Given the description of an element on the screen output the (x, y) to click on. 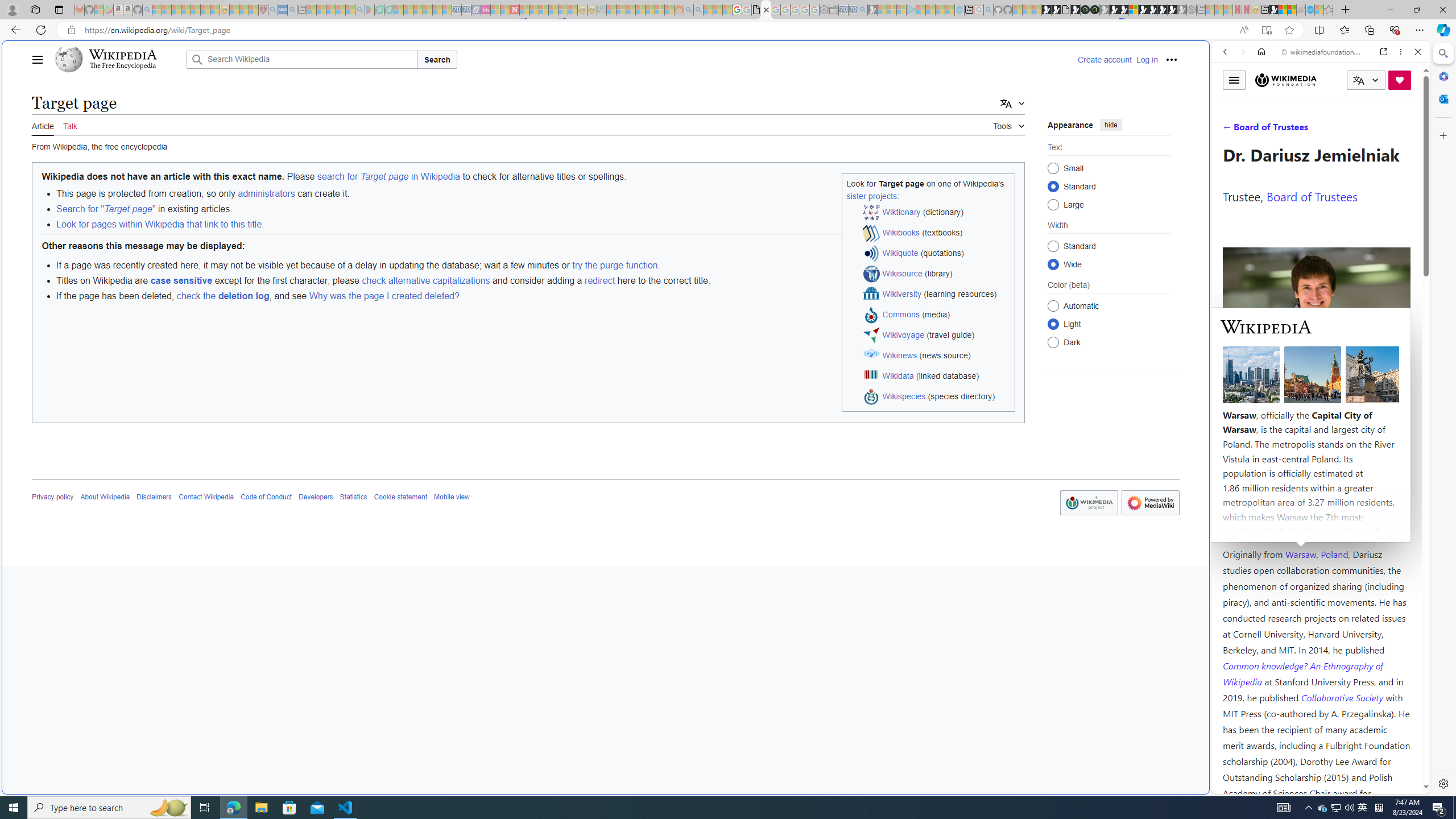
Actions for this site (1370, 583)
Poland (1334, 554)
Class: mw-list-item mw-list-item-js (1109, 323)
Wikinews (899, 355)
check the deletion log (222, 296)
Why was the page I created deleted? (384, 296)
Powered by MediaWiki (1150, 502)
Code of Conduct (265, 497)
Microsoft Start Gaming - Sleeping (872, 9)
Cheap Hotels - Save70.com - Sleeping (466, 9)
Mobile view (451, 497)
